Given the description of an element on the screen output the (x, y) to click on. 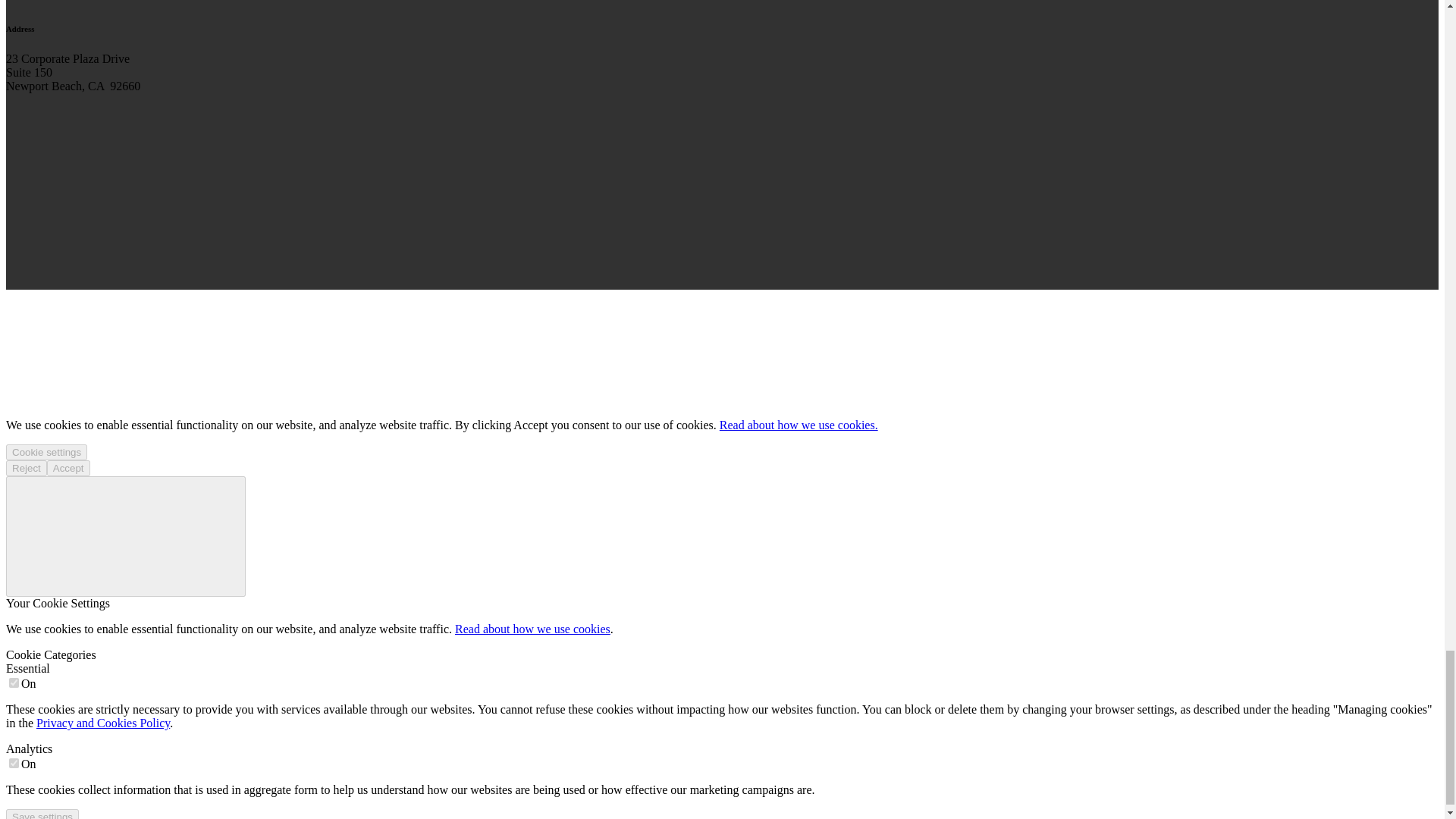
Read about how we use cookies (532, 628)
on (13, 763)
on (13, 682)
Reject (25, 467)
Cookie settings (46, 452)
Privacy and Cookies Policy (103, 722)
Read about how we use cookies. (798, 424)
Accept (68, 467)
